Given the description of an element on the screen output the (x, y) to click on. 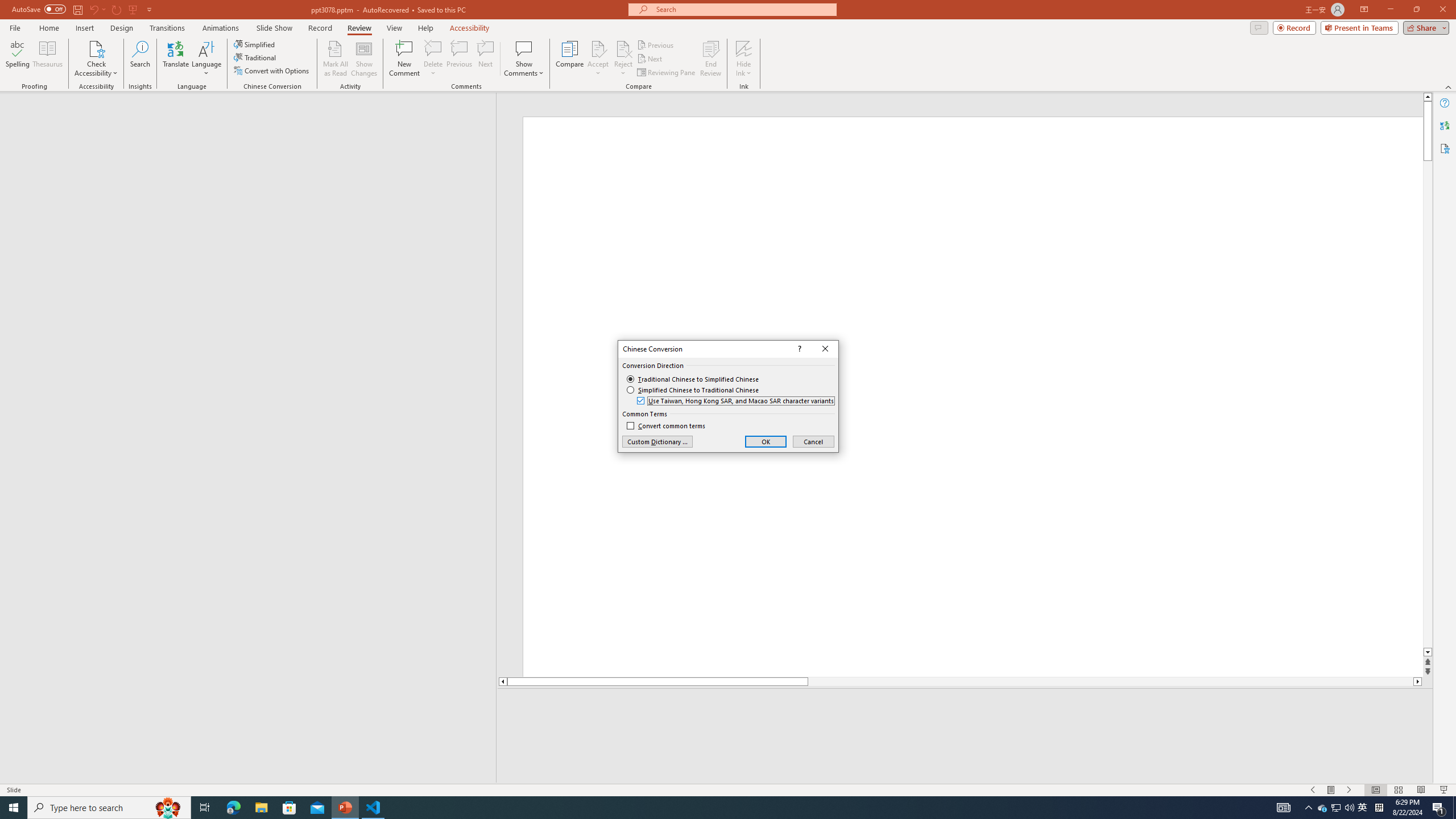
Show Comments (524, 48)
